Given the description of an element on the screen output the (x, y) to click on. 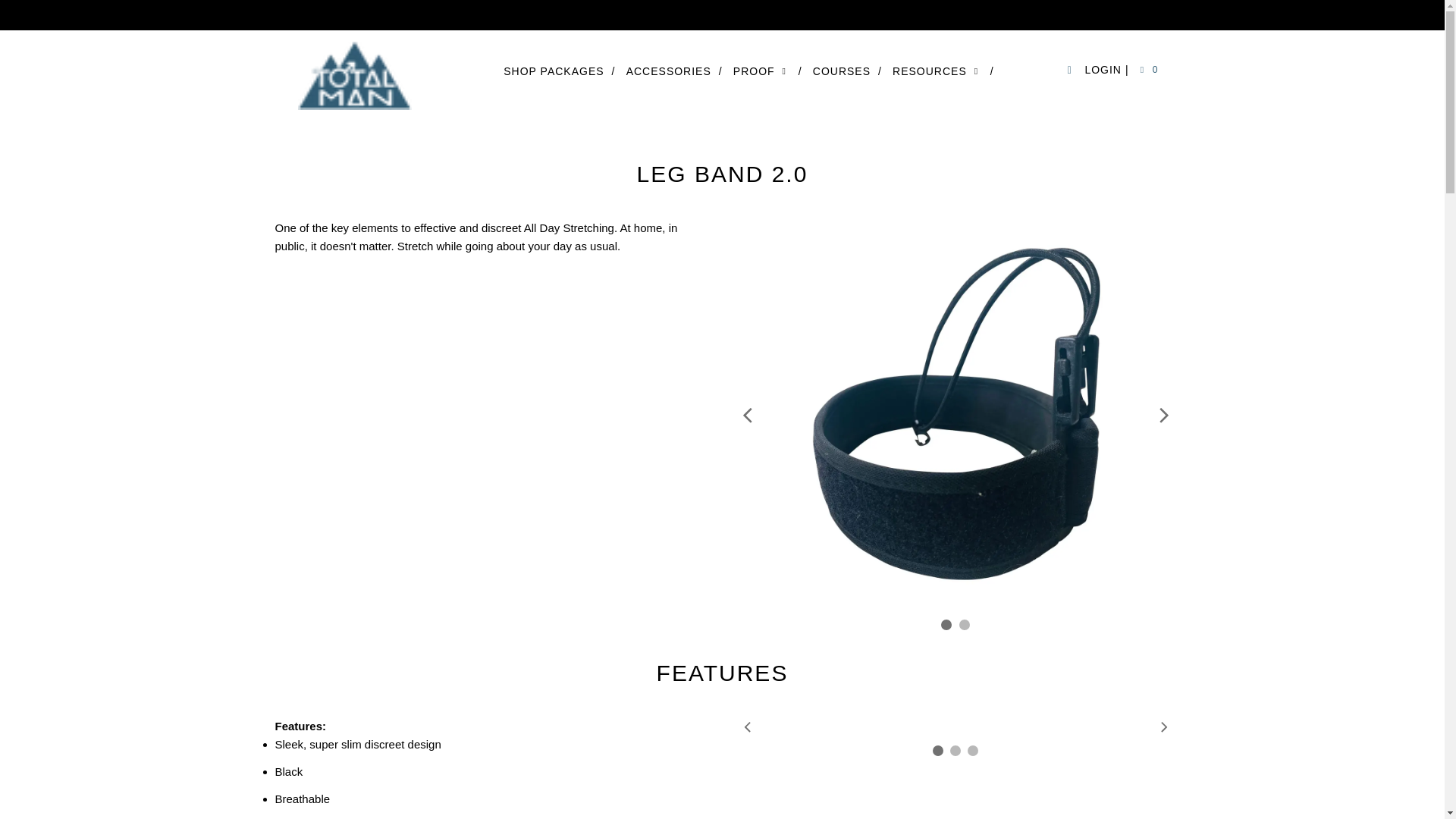
PROOF (767, 71)
SHOP PACKAGES (558, 71)
TMC Pty Ltd (360, 75)
COURSES (847, 71)
RESOURCES (943, 71)
ACCESSORIES (674, 71)
